Given the description of an element on the screen output the (x, y) to click on. 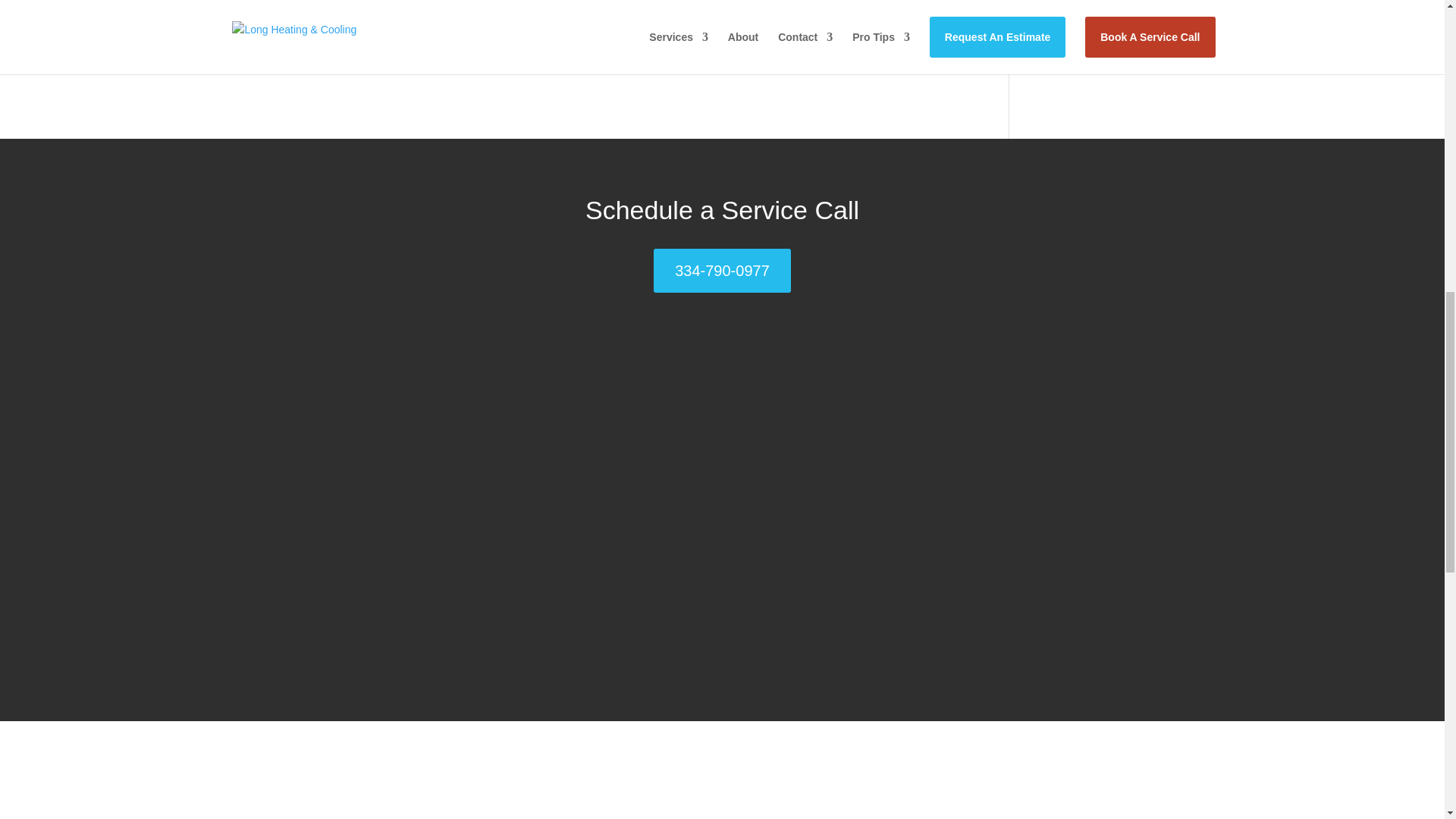
Air Conditioning Service in Dothan, AL (419, 46)
give us a call (290, 18)
Long Heating and Cooling at 334-790-0977 (649, 46)
call us at 334-790-0977 (689, 18)
